Given the description of an element on the screen output the (x, y) to click on. 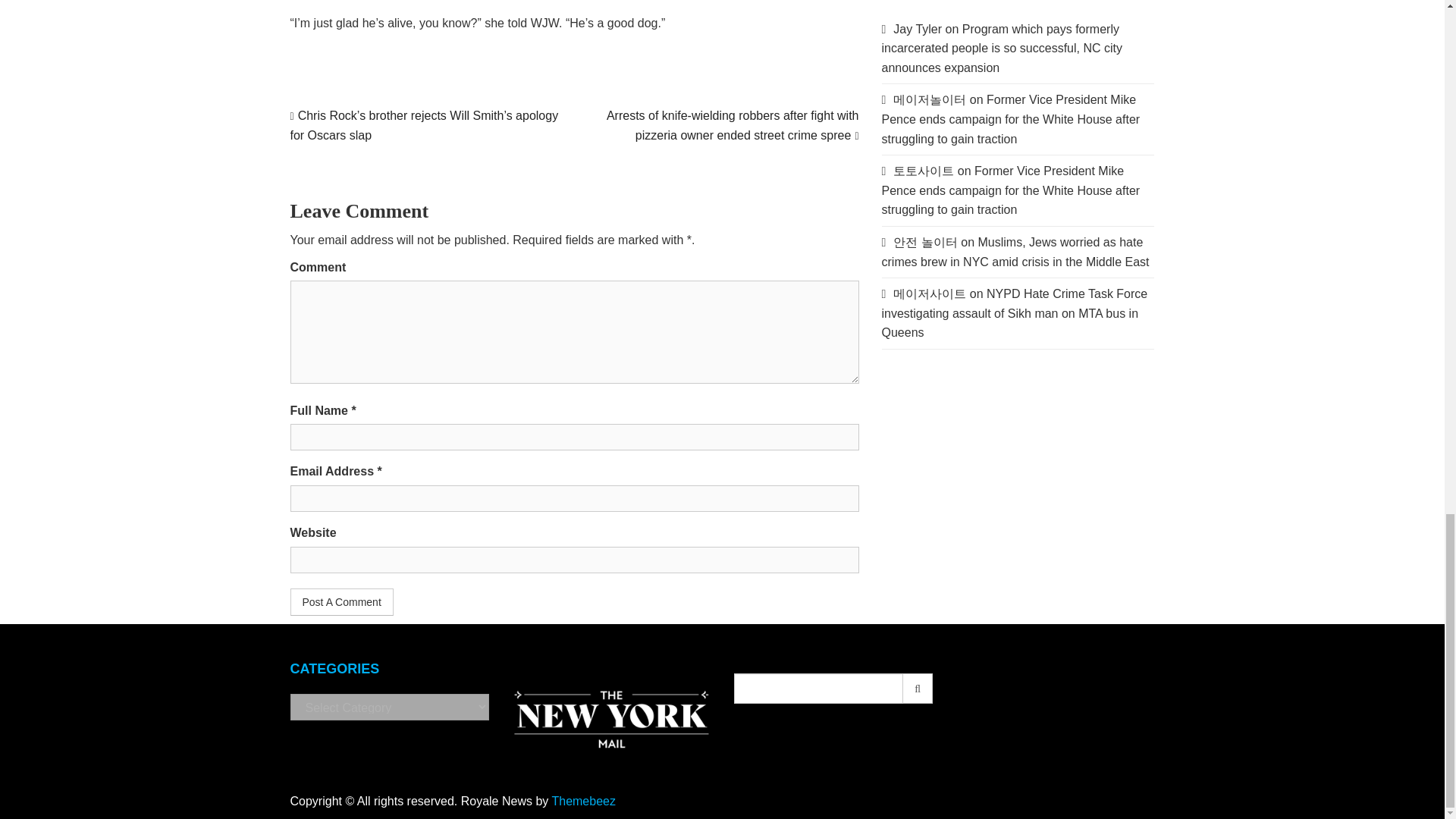
Post A Comment (341, 601)
Jay Tyler (917, 29)
Post A Comment (341, 601)
